Given the description of an element on the screen output the (x, y) to click on. 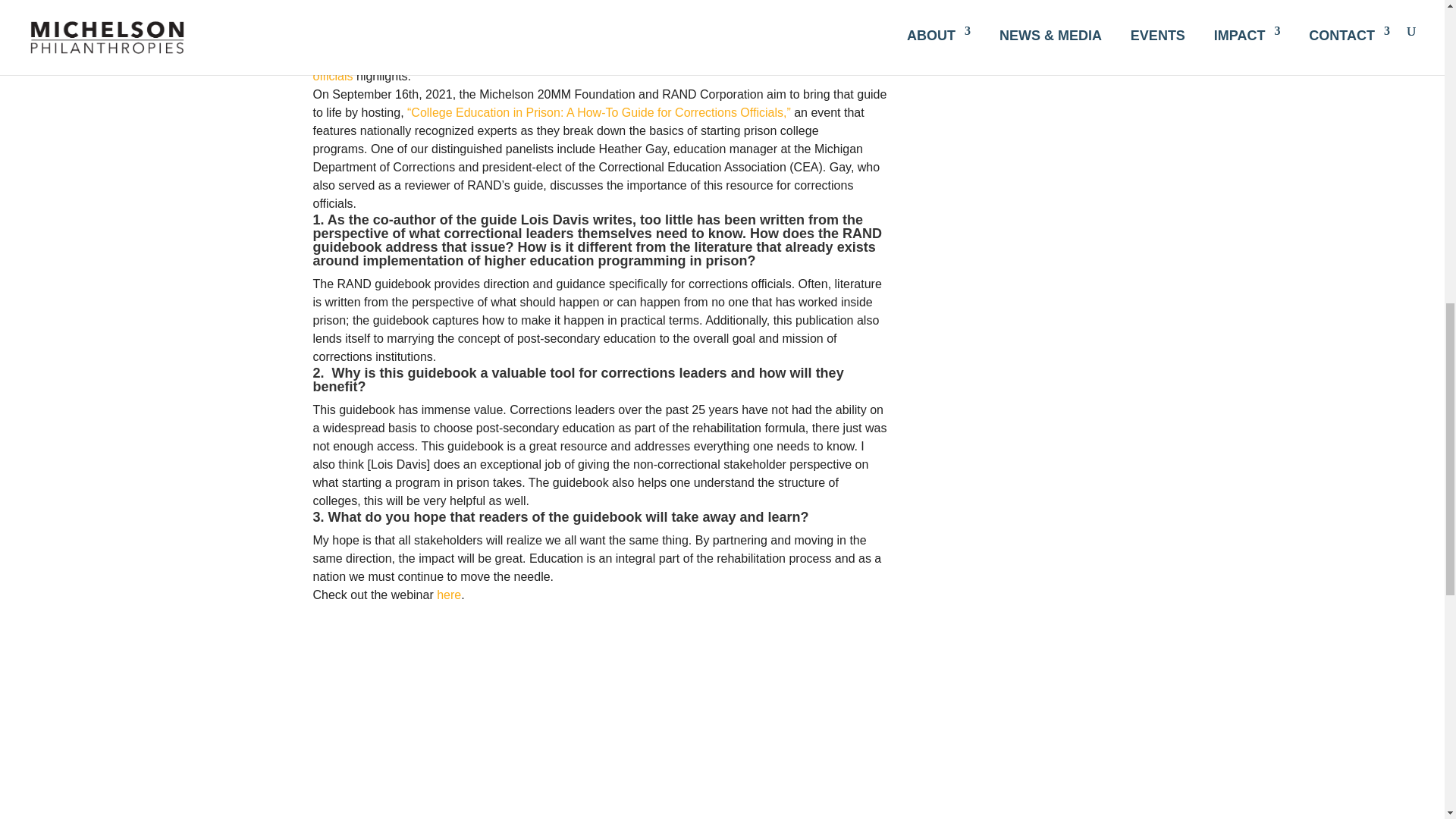
here (448, 594)
 RAND Corporation guide for corrections officials (577, 66)
